Given the description of an element on the screen output the (x, y) to click on. 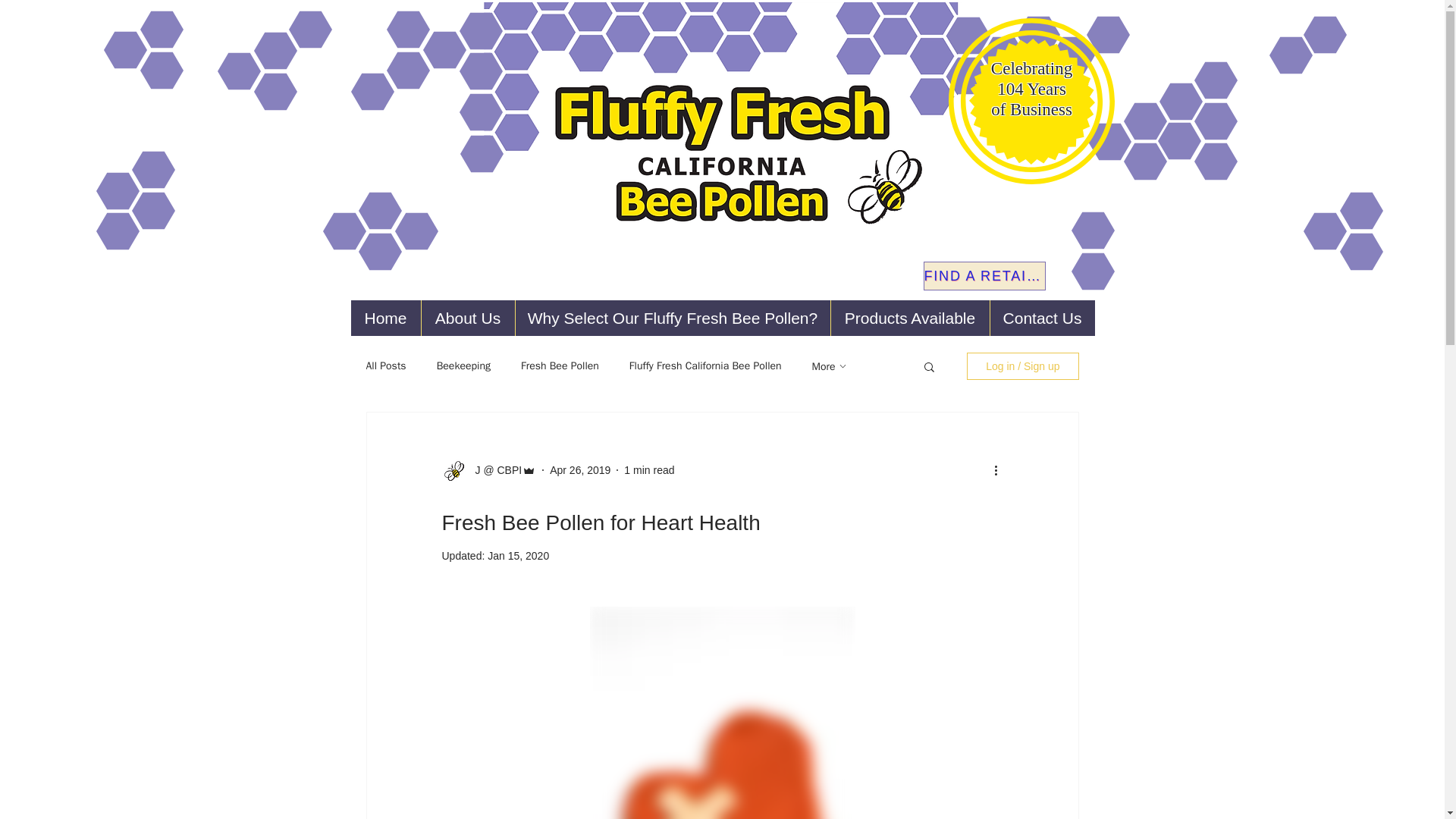
Why Select Our Fluffy Fresh Bee Pollen? (671, 317)
1 min read (649, 469)
Apr 26, 2019 (580, 469)
All Posts (385, 366)
Home (385, 317)
Products Available (908, 317)
Jan 15, 2020 (517, 555)
About Us (466, 317)
FIND A RETAILER (984, 275)
Contact Us (1041, 317)
